Given the description of an element on the screen output the (x, y) to click on. 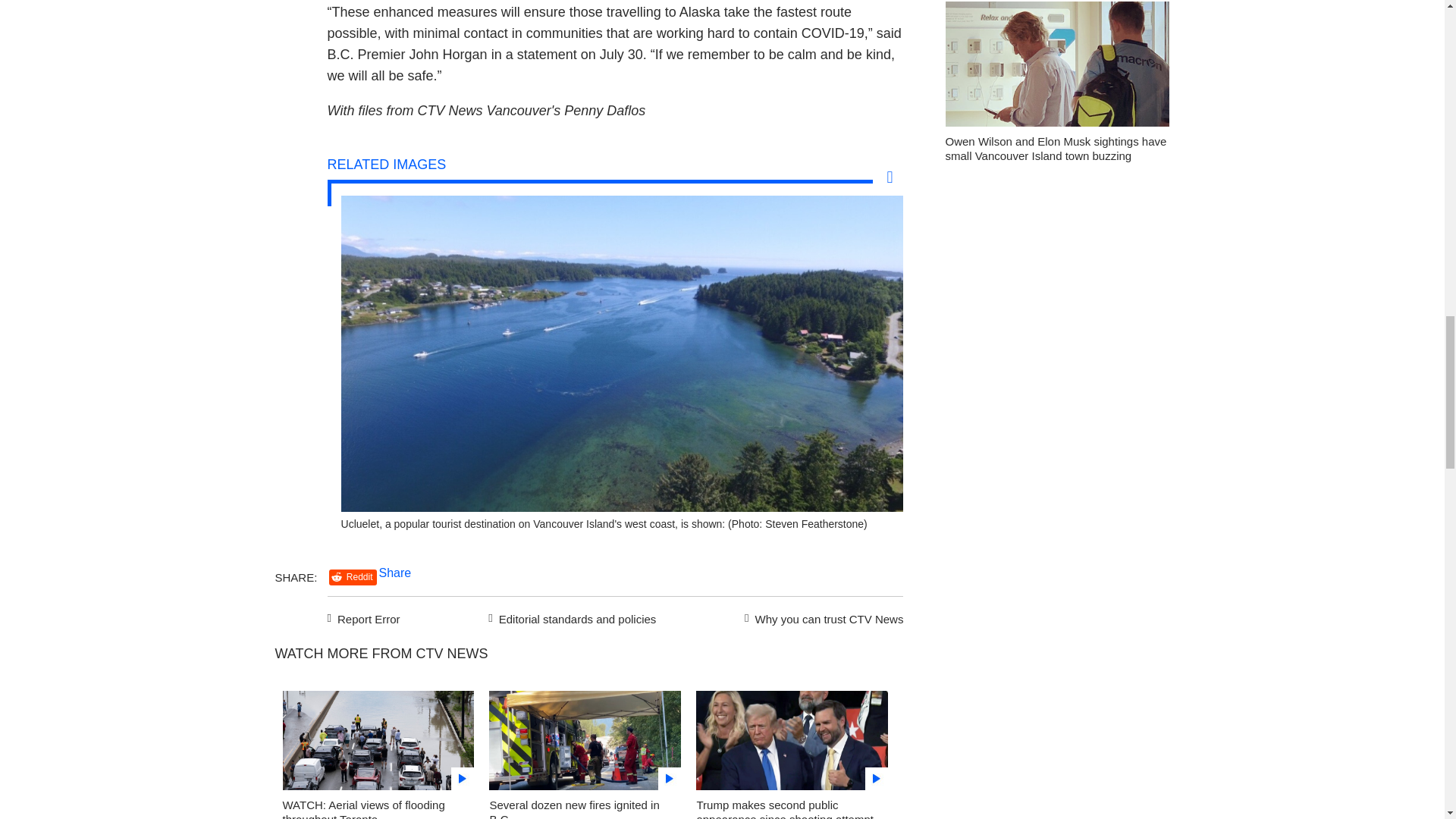
Why you can trust CTV News (820, 617)
Toronto DVP flood (378, 744)
false (585, 740)
false (378, 740)
Report Error (363, 617)
Share (395, 572)
ucluelet (622, 507)
Trump makes second public appearance since shooting attempt (784, 808)
WATCH: Aerial views of flooding throughout Toronto (363, 808)
Several dozen new fires ignited in B.C. (585, 744)
Several dozen new fires ignited in B.C. (574, 808)
Editorial standards and policies (569, 617)
Reddit (353, 577)
false (791, 740)
